Given the description of an element on the screen output the (x, y) to click on. 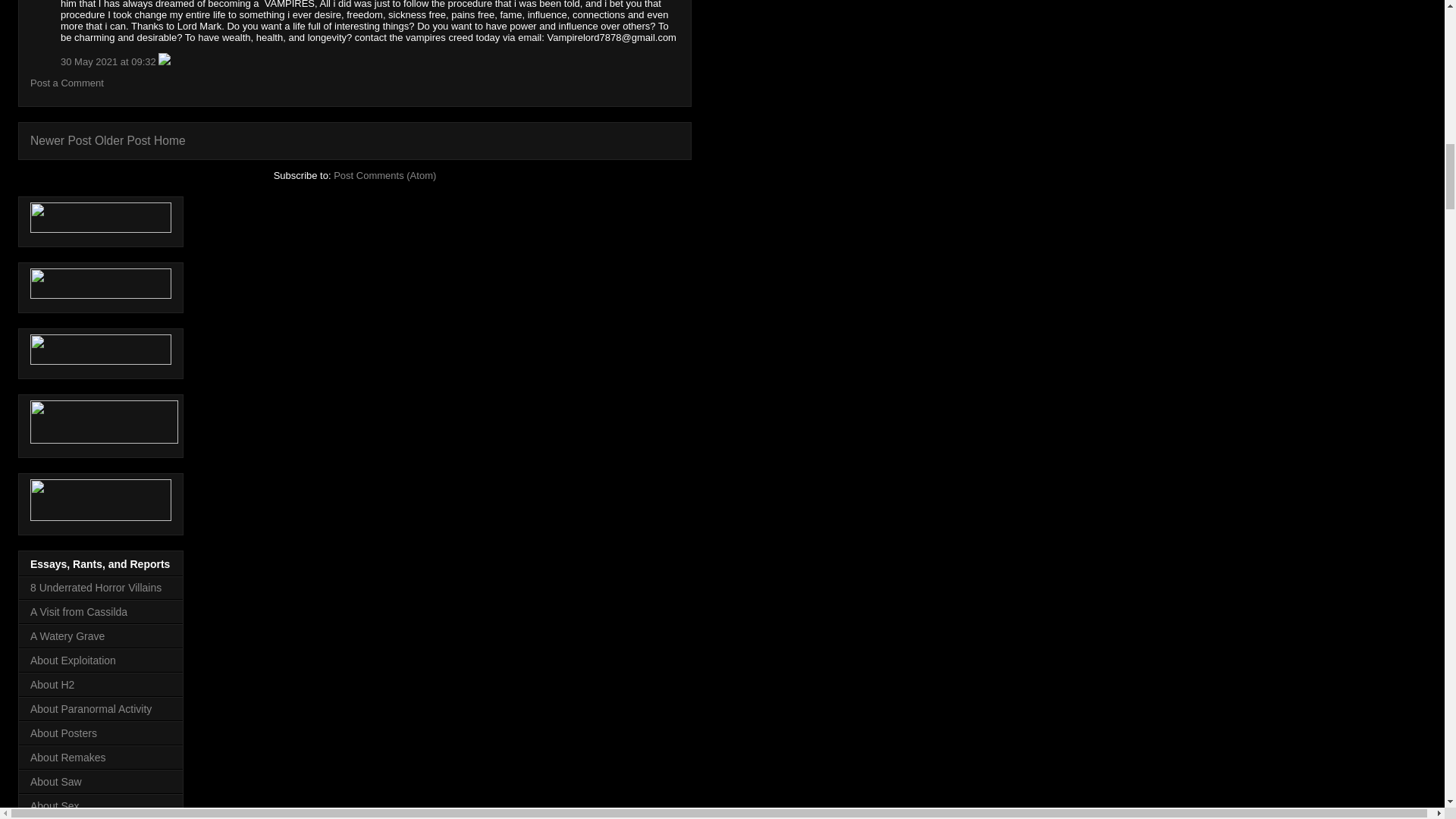
Home (170, 140)
Older Post (122, 140)
A Watery Grave (67, 635)
30 May 2021 at 09:32 (109, 61)
Delete Comment (164, 61)
8 Underrated Horror Villains (95, 587)
A Visit from Cassilda (79, 612)
Newer Post (60, 140)
Post a Comment (66, 82)
comment permalink (109, 61)
Newer Post (60, 140)
